Given the description of an element on the screen output the (x, y) to click on. 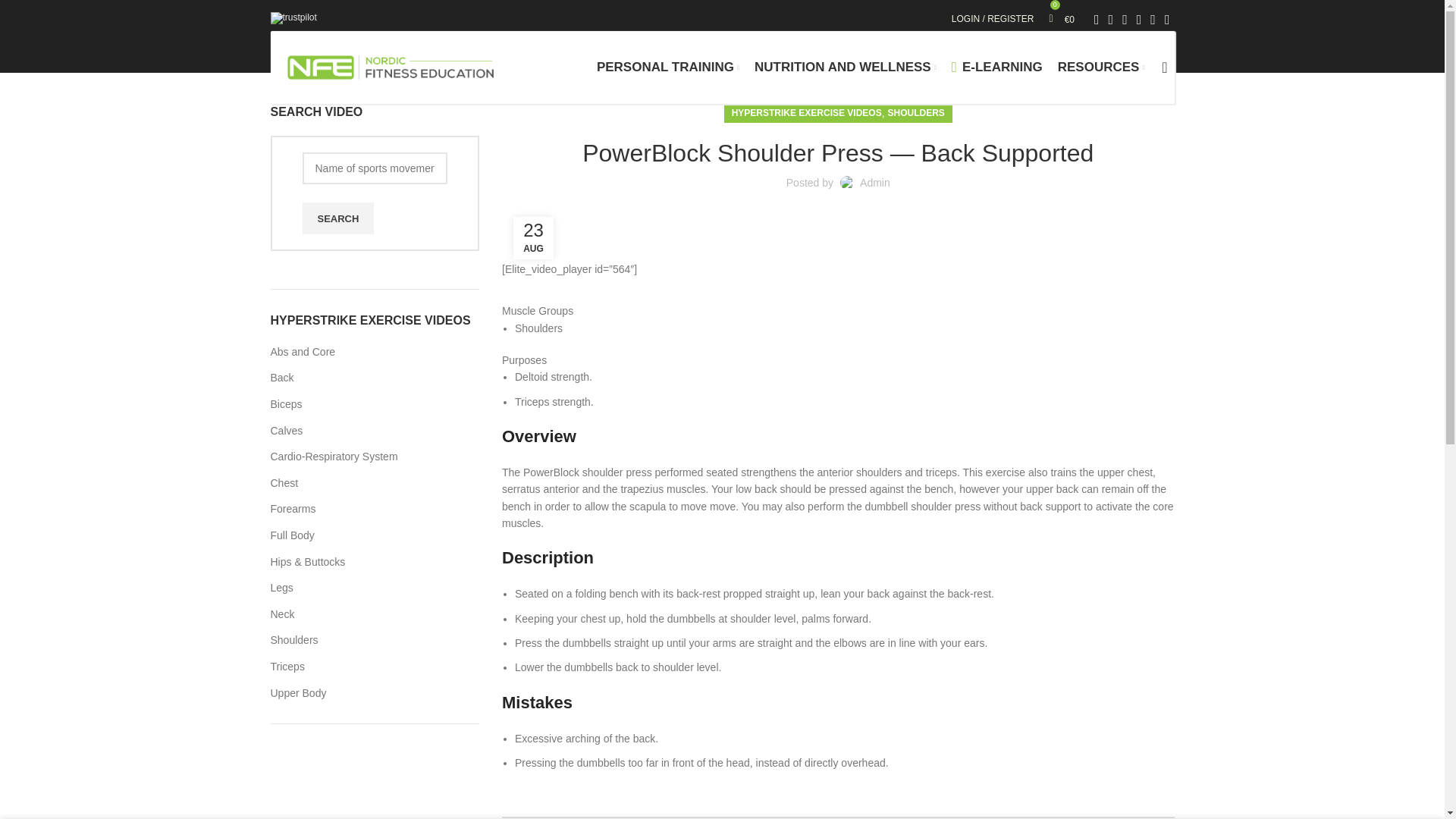
My account (992, 19)
RESOURCES (1101, 67)
HYPERSTRIKE EXERCISE VIDEOS (807, 113)
PERSONAL TRAINING (667, 67)
NUTRITION AND WELLNESS (845, 67)
E-LEARNING (997, 67)
Shopping cart (1062, 19)
